Given the description of an element on the screen output the (x, y) to click on. 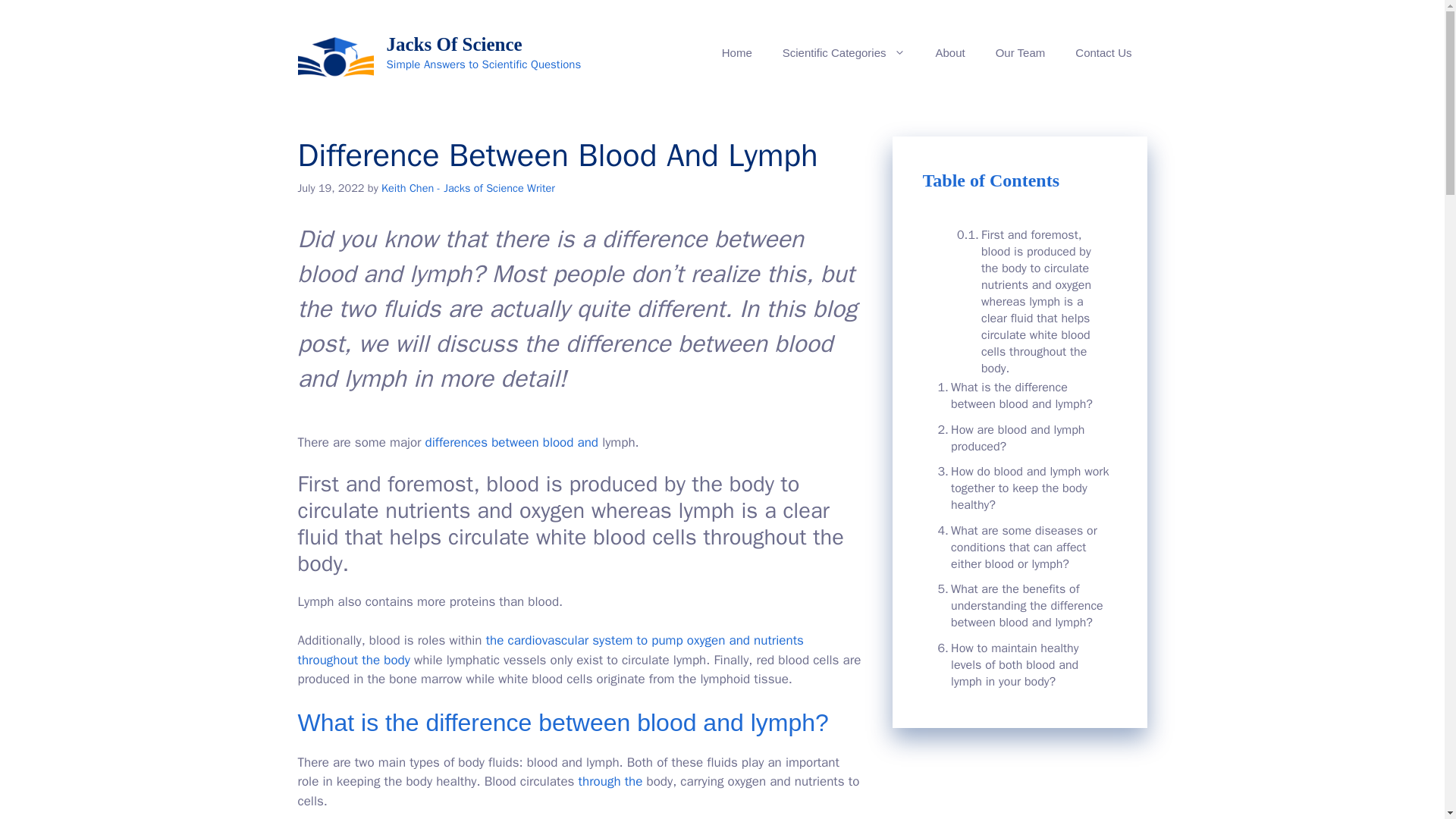
How are blood and lymph produced? (1019, 438)
How are blood and lymph produced? (1019, 438)
View all posts by Keith Chen - Jacks of Science Writer (467, 187)
Our Team (1020, 53)
Keith Chen - Jacks of Science Writer (467, 187)
Jacks Of Science (454, 44)
What is the difference between blood and lymph? (1019, 395)
Contact Us (1103, 53)
through the (610, 781)
Scientific Categories (843, 53)
